Given the description of an element on the screen output the (x, y) to click on. 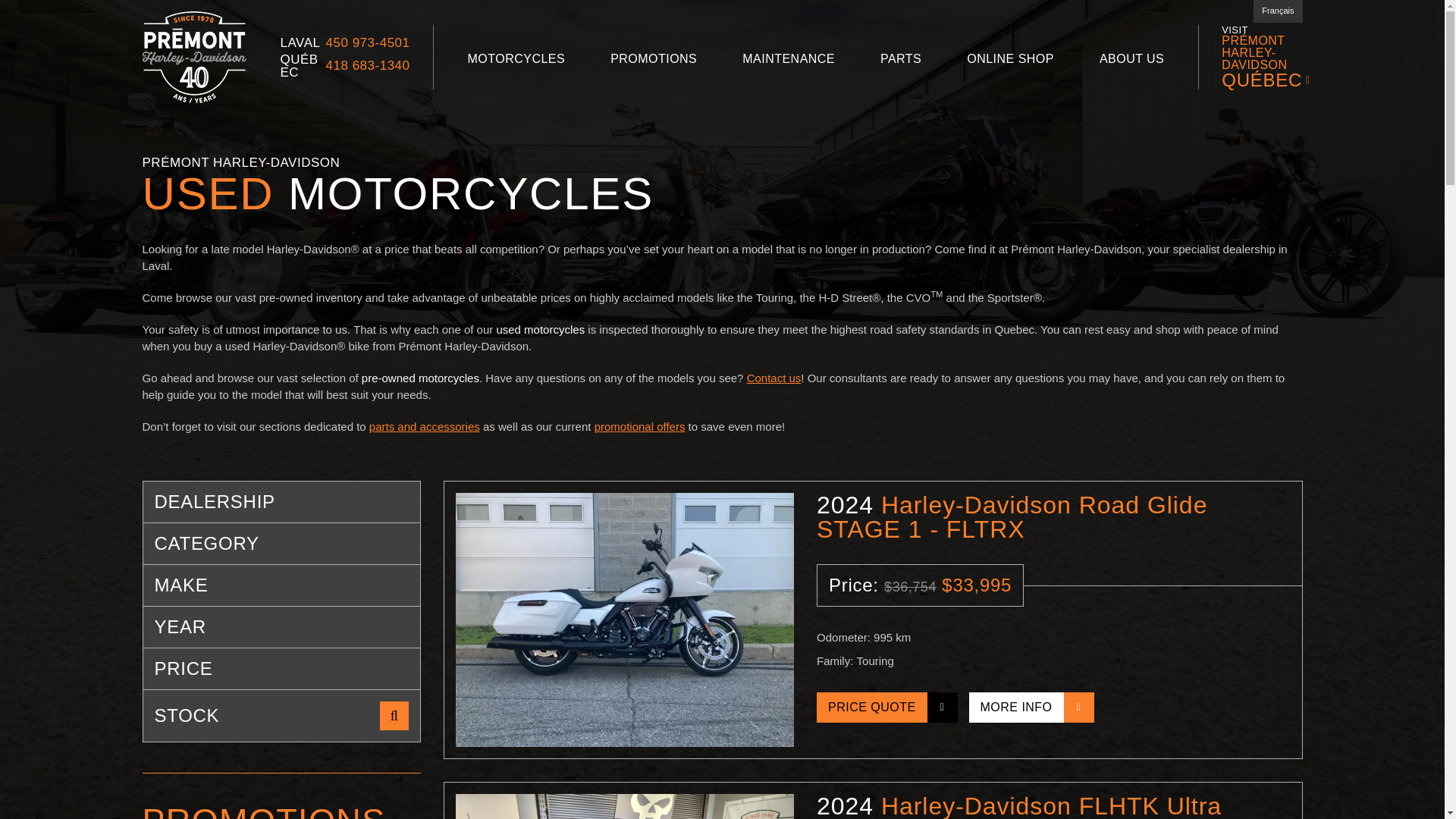
MOTORCYCLES (516, 60)
ONLINE SHOP (1010, 60)
ABOUT US (1130, 60)
MAINTENANCE (787, 60)
PARTS (901, 60)
418 683-1340 (368, 65)
450 973-4501 (368, 42)
PROMOTIONS (652, 60)
